Given the description of an element on the screen output the (x, y) to click on. 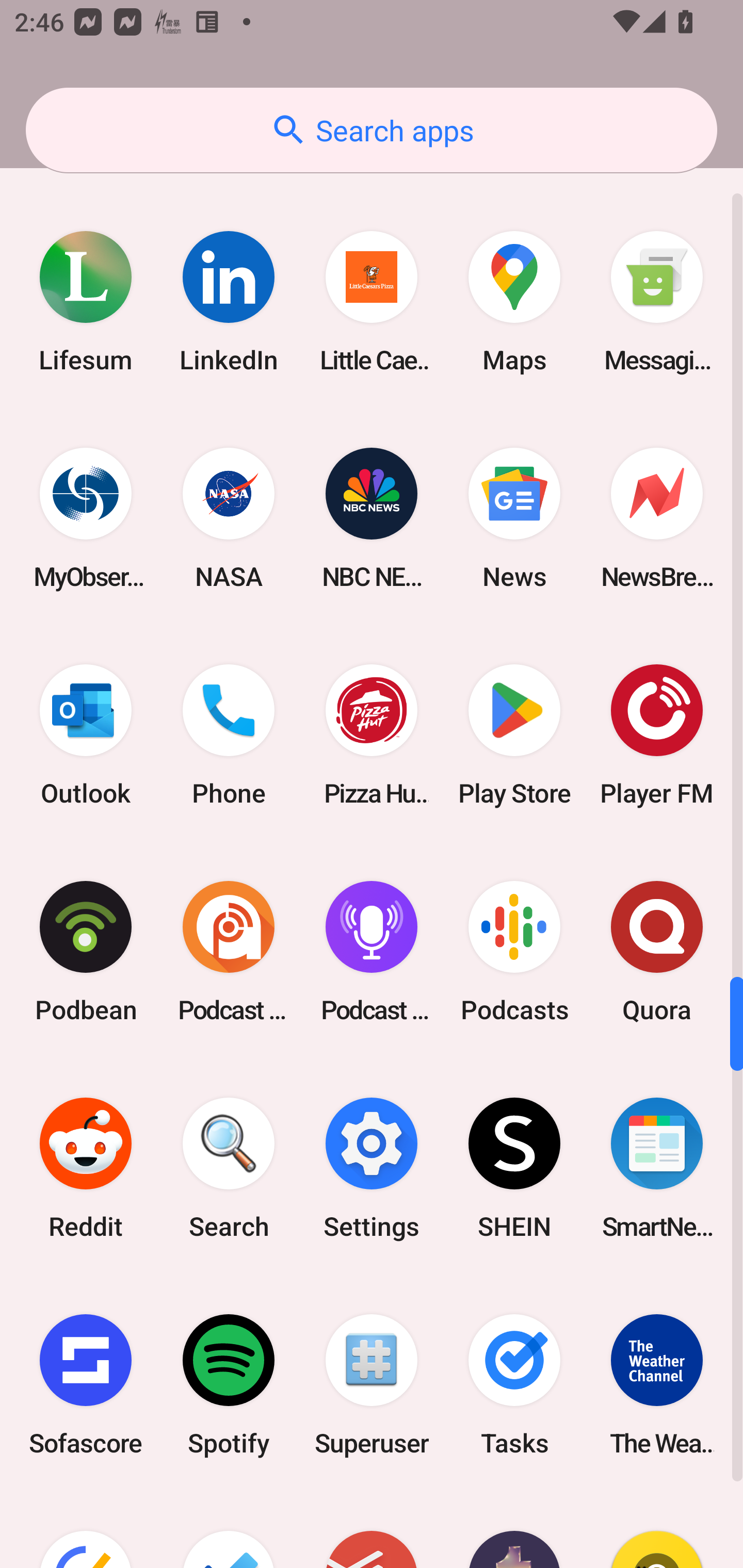
  Search apps (371, 130)
Lifesum (85, 301)
LinkedIn (228, 301)
Little Caesars Pizza (371, 301)
Maps (514, 301)
Messaging (656, 301)
MyObservatory (85, 518)
NASA (228, 518)
NBC NEWS (371, 518)
News (514, 518)
NewsBreak (656, 518)
Outlook (85, 735)
Phone (228, 735)
Pizza Hut HK & Macau (371, 735)
Play Store (514, 735)
Player FM (656, 735)
Podbean (85, 951)
Podcast Addict (228, 951)
Podcast Player (371, 951)
Podcasts (514, 951)
Quora (656, 951)
Reddit (85, 1167)
Search (228, 1167)
Settings (371, 1167)
SHEIN (514, 1167)
SmartNews (656, 1167)
Sofascore (85, 1384)
Spotify (228, 1384)
Superuser (371, 1384)
Tasks (514, 1384)
The Weather Channel (656, 1384)
